Given the description of an element on the screen output the (x, y) to click on. 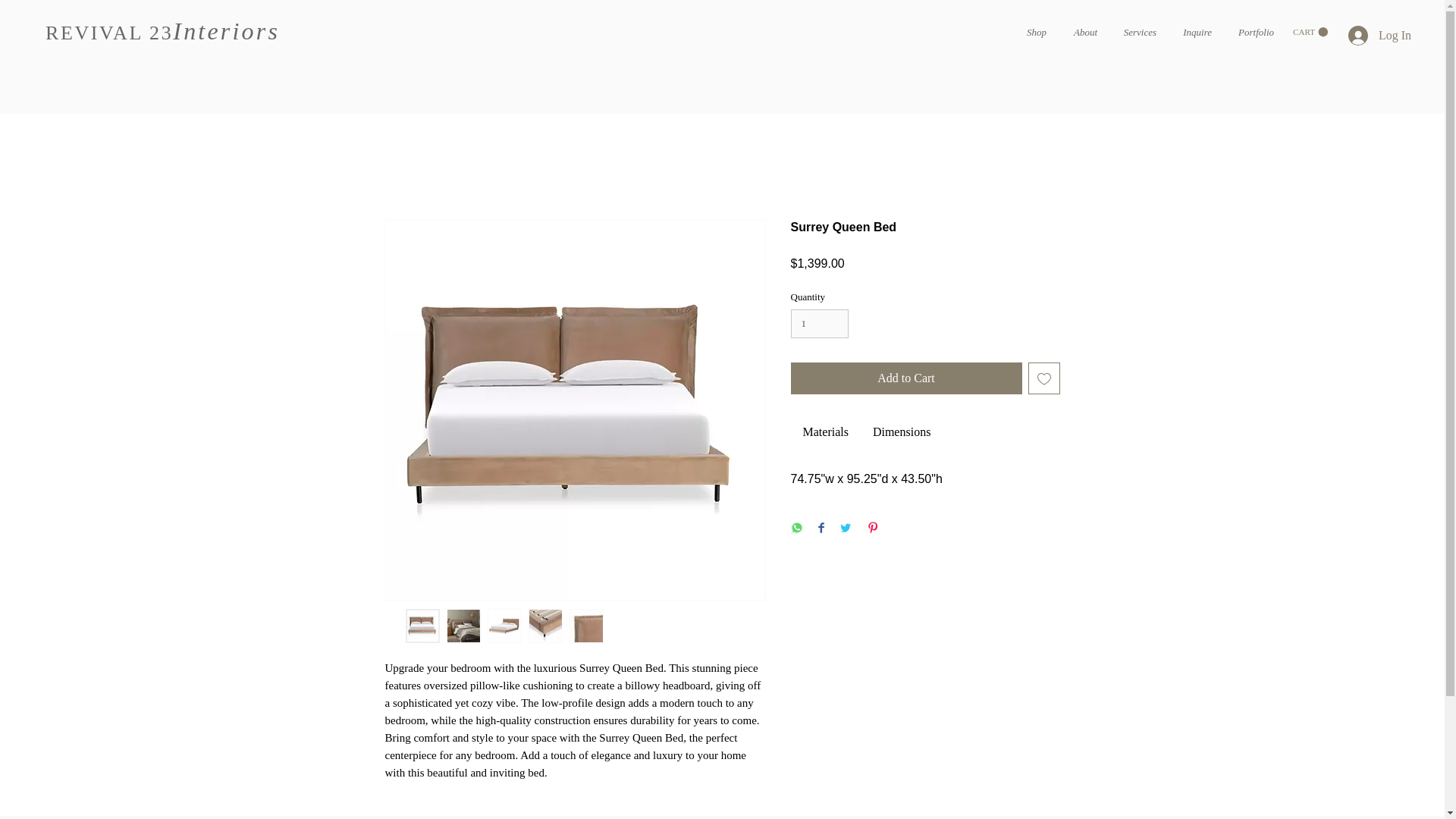
Services (1137, 32)
Use right and left arrows to navigate between tabs (900, 432)
Log In (1380, 35)
1 (818, 323)
CART (1309, 31)
Inquire (1195, 32)
Shop (1034, 32)
CART (1309, 31)
Interiors (226, 31)
Add to Cart (906, 377)
